Given the description of an element on the screen output the (x, y) to click on. 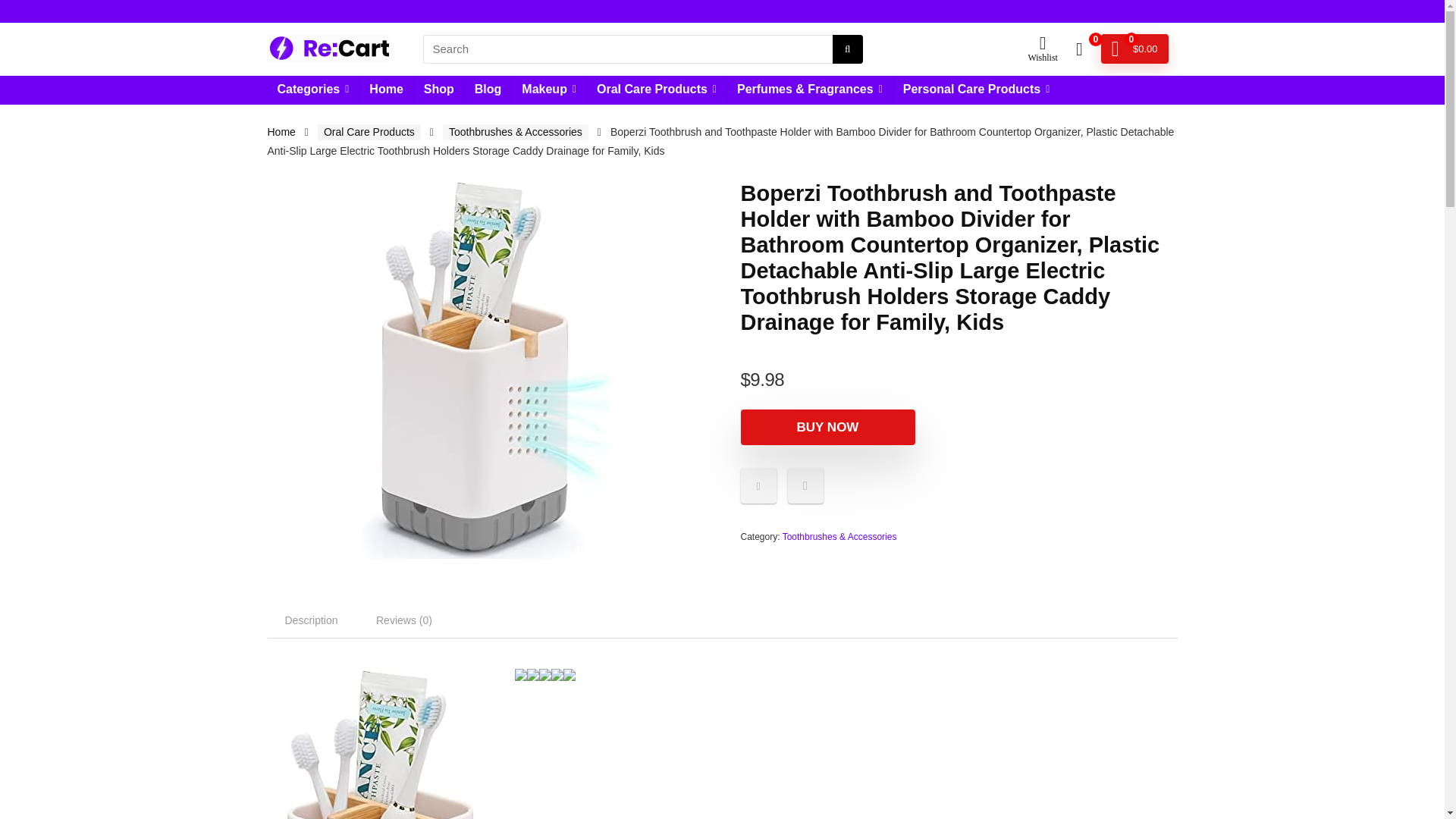
Blog (488, 90)
Categories (312, 90)
Oral Care Products (656, 90)
Home (385, 90)
Makeup (549, 90)
Shop (438, 90)
